Given the description of an element on the screen output the (x, y) to click on. 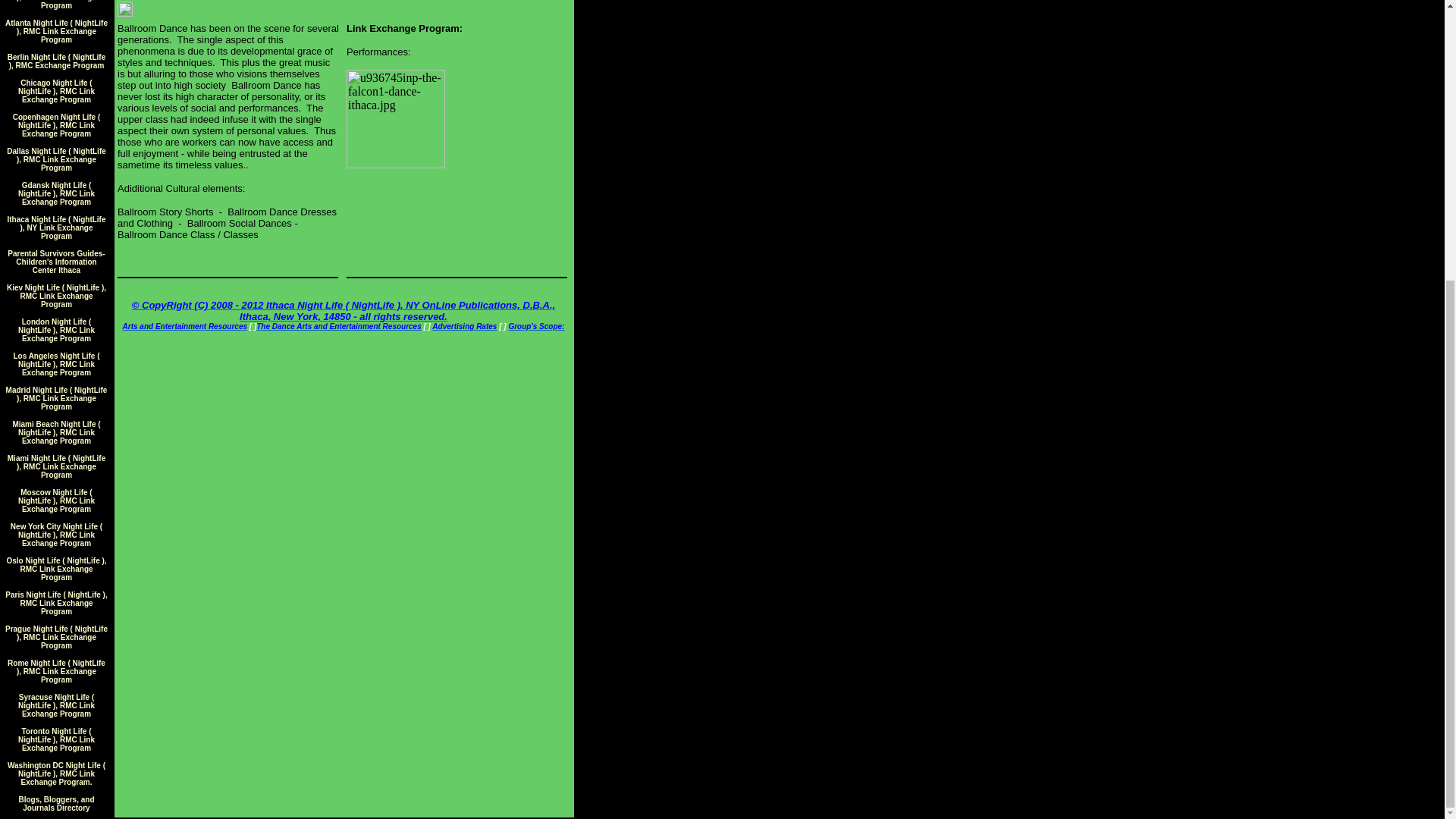
Arts and Entertainment Resources (184, 326)
Blogs, Bloggers, and Journals Directory (55, 802)
